Given the description of an element on the screen output the (x, y) to click on. 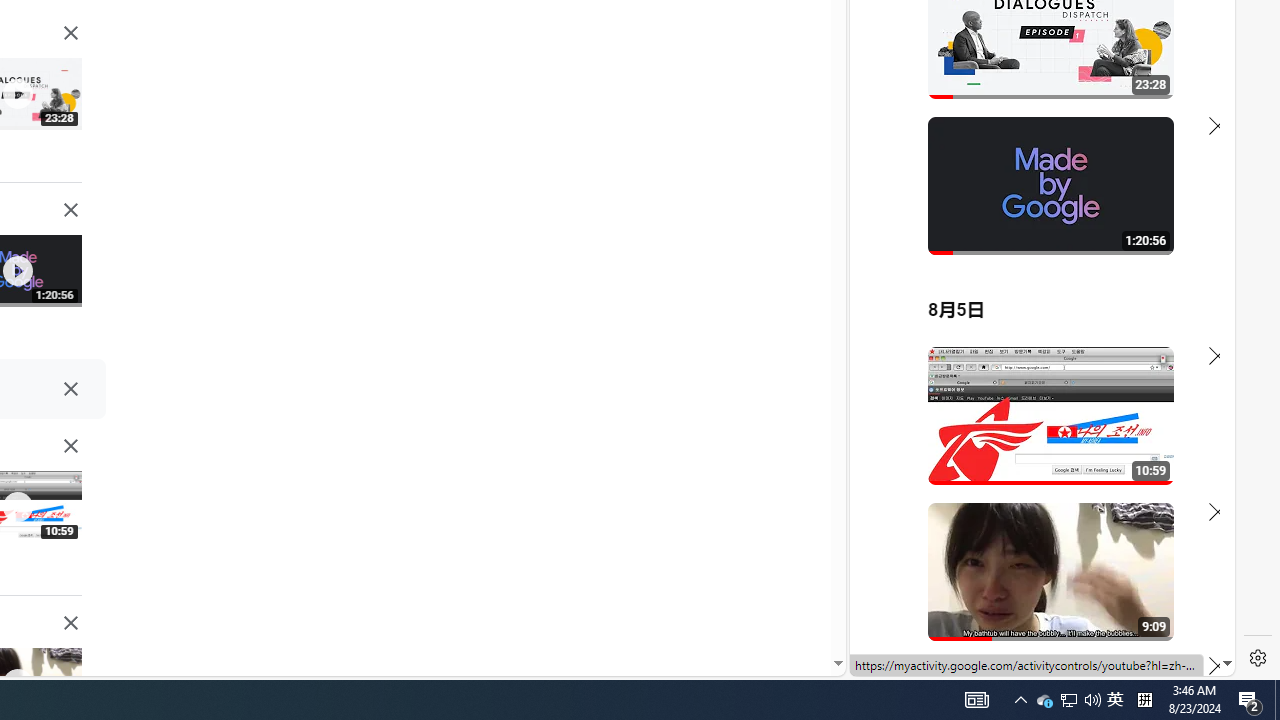
Class: TjcpUd NMm5M (70, 623)
Click to scroll right (1196, 83)
YouTube (1034, 432)
